Given the description of an element on the screen output the (x, y) to click on. 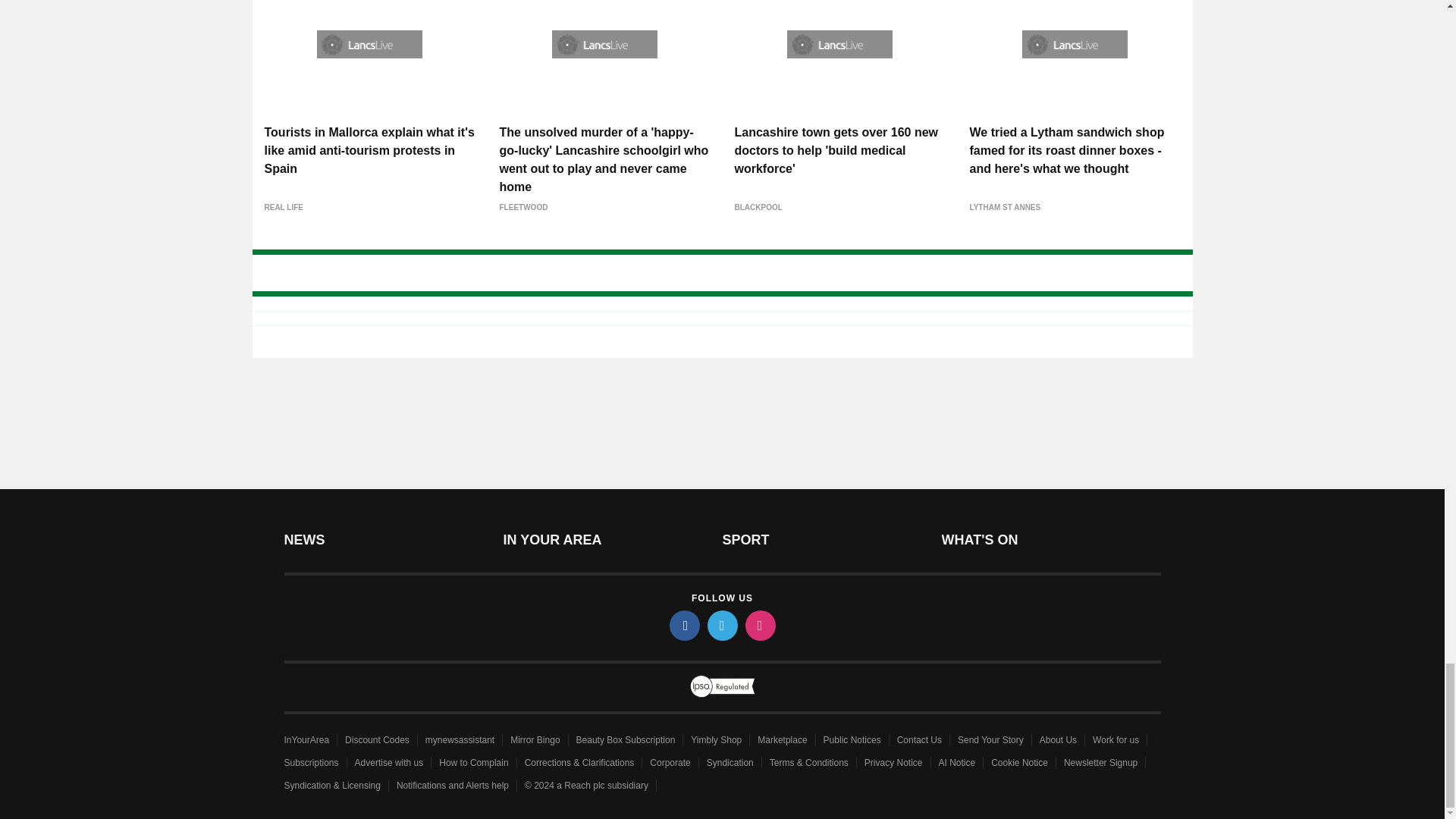
facebook (683, 625)
twitter (721, 625)
instagram (759, 625)
